Given the description of an element on the screen output the (x, y) to click on. 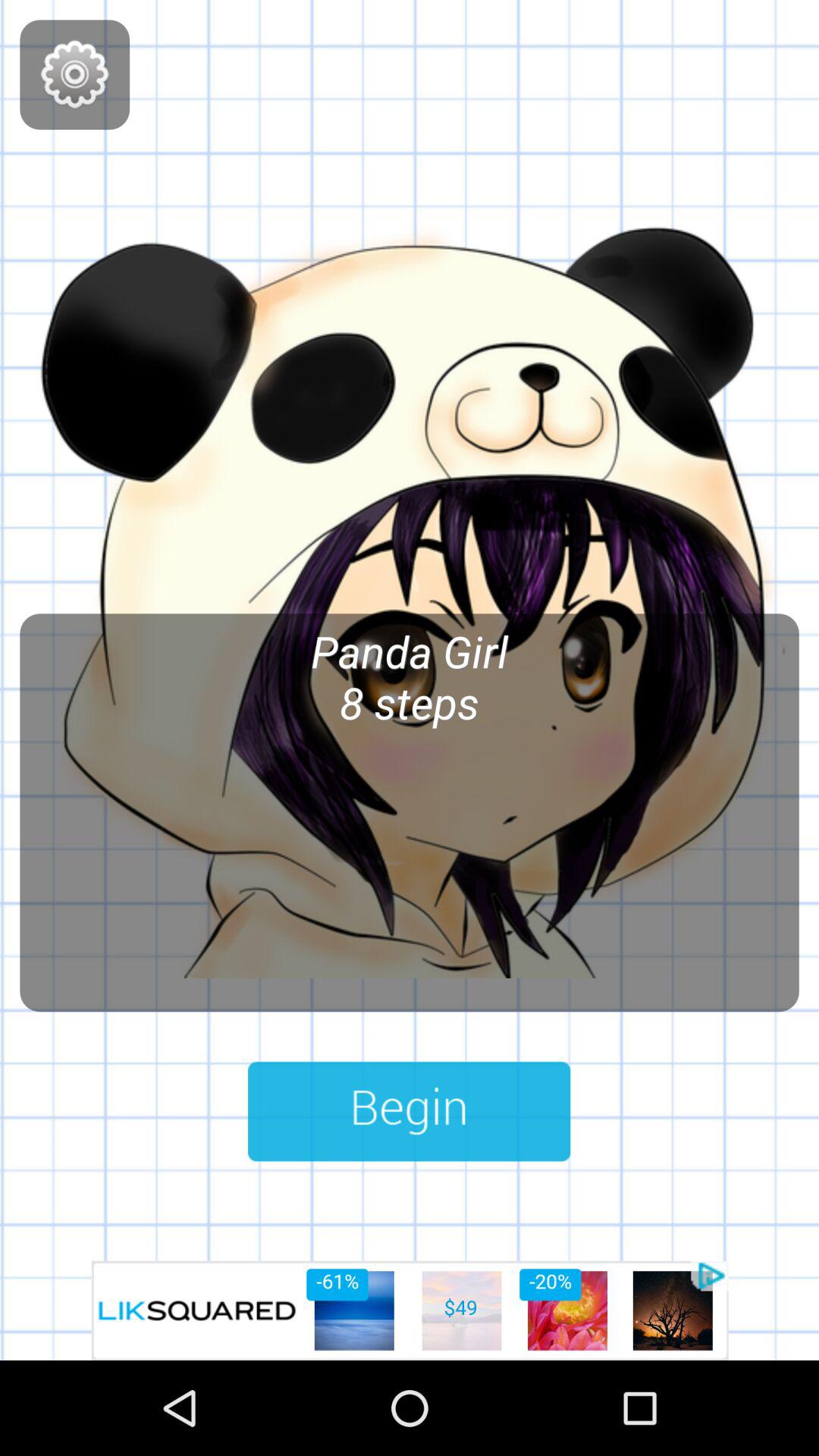
go to next (408, 1111)
